Given the description of an element on the screen output the (x, y) to click on. 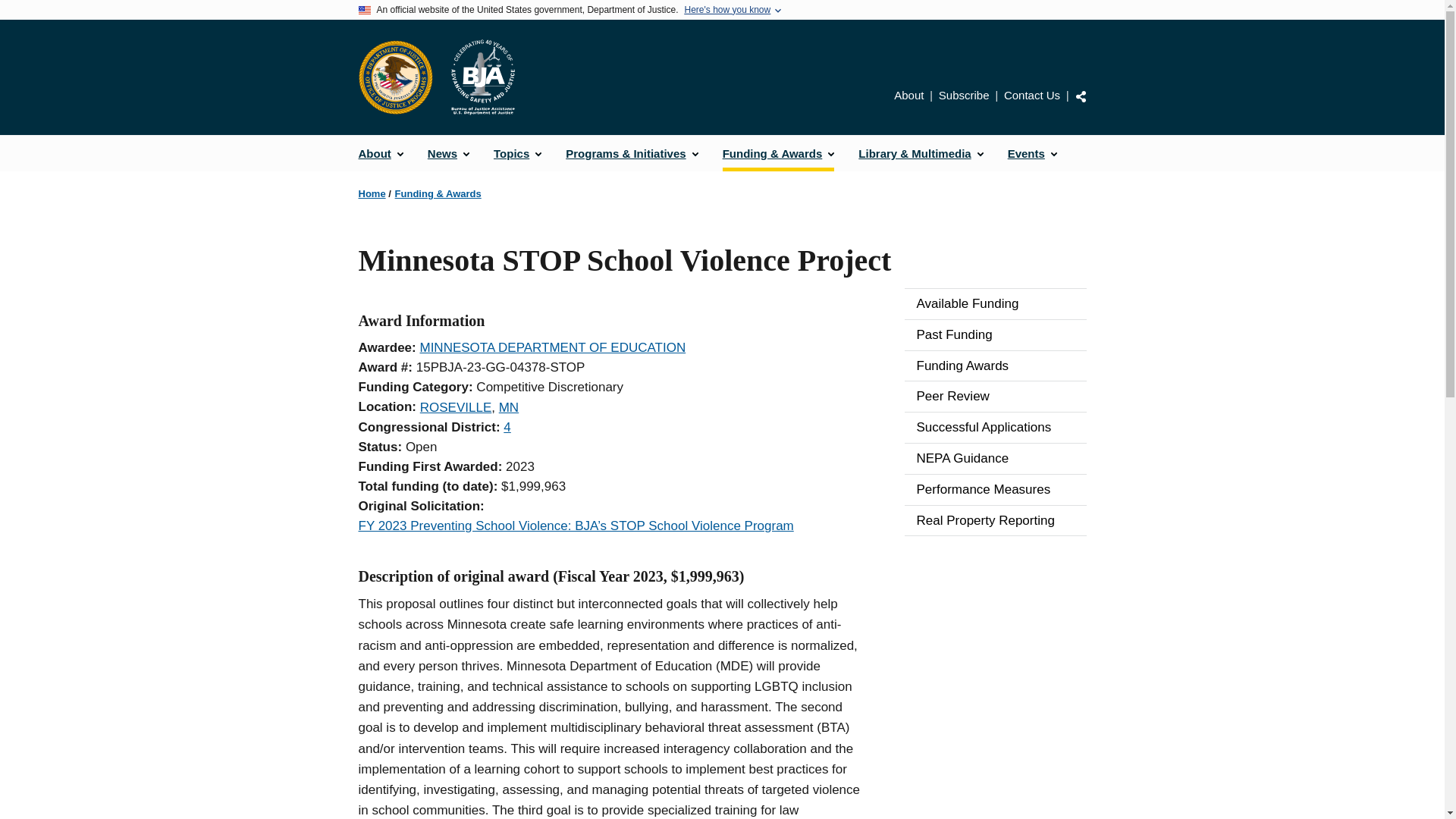
Funding Awards (995, 366)
Successful Applications (995, 427)
Choose a social sharing platform (1080, 96)
Peer Review (995, 396)
NEPA Guidance (995, 458)
Contact Us (1031, 94)
Events (1031, 153)
Topics (517, 153)
Share (1080, 96)
